Given the description of an element on the screen output the (x, y) to click on. 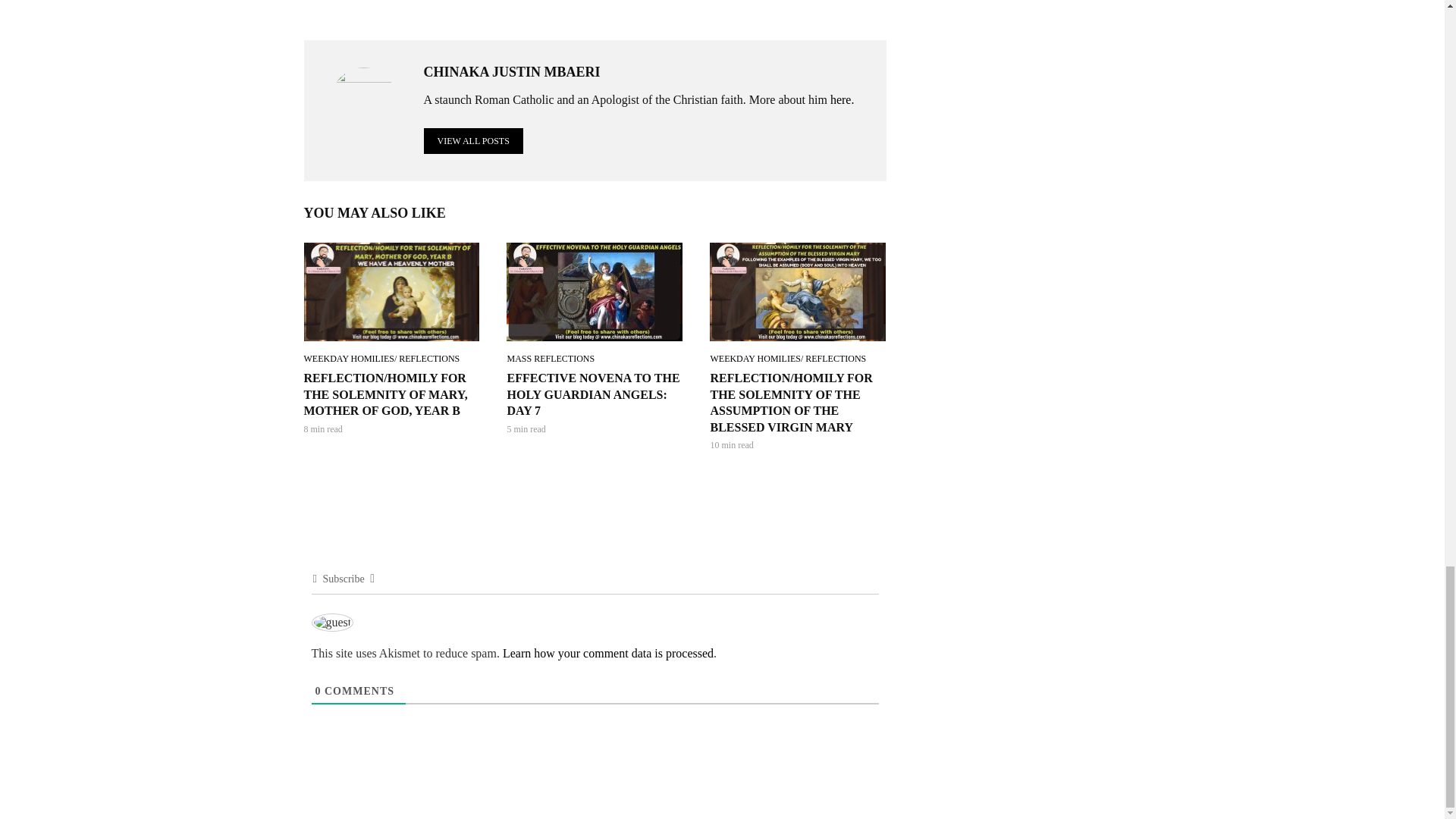
MASS REFLECTIONS (550, 358)
here. (841, 99)
EFFECTIVE NOVENA TO THE HOLY GUARDIAN ANGELS: DAY 7 (594, 394)
EFFECTIVE NOVENA TO THE HOLY GUARDIAN ANGELS: DAY 7 (594, 291)
VIEW ALL POSTS (472, 140)
